Given the description of an element on the screen output the (x, y) to click on. 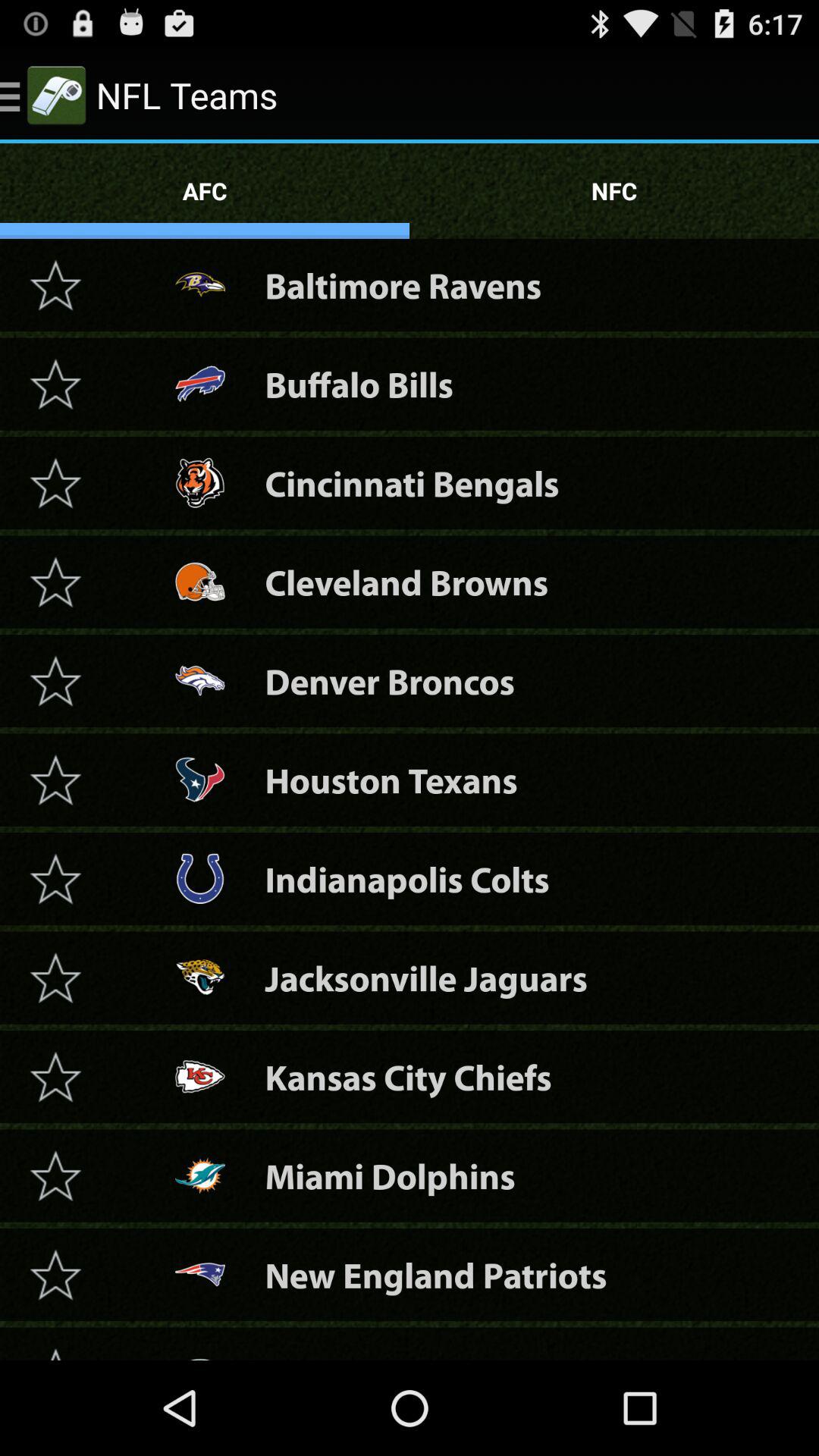
toggle star (55, 1076)
